Given the description of an element on the screen output the (x, y) to click on. 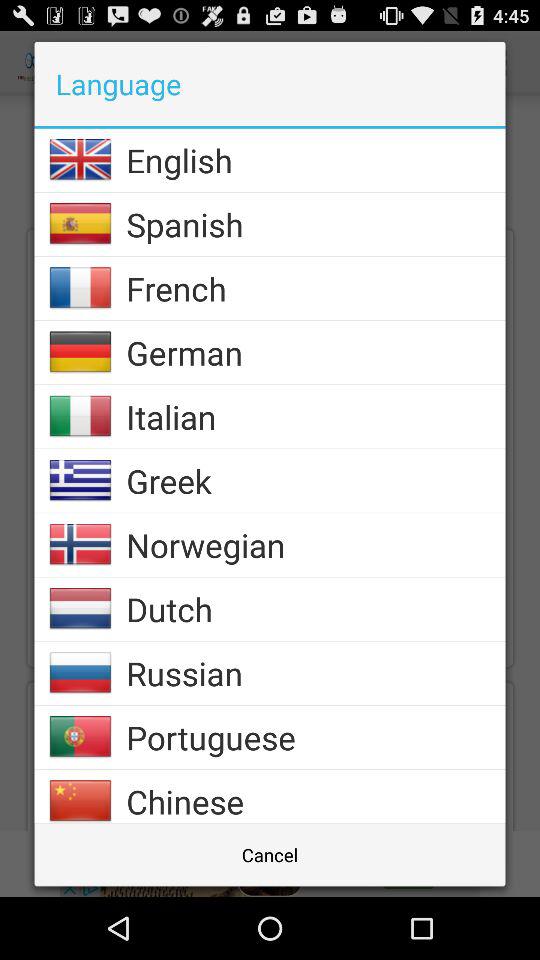
launch app above spanish icon (315, 160)
